Given the description of an element on the screen output the (x, y) to click on. 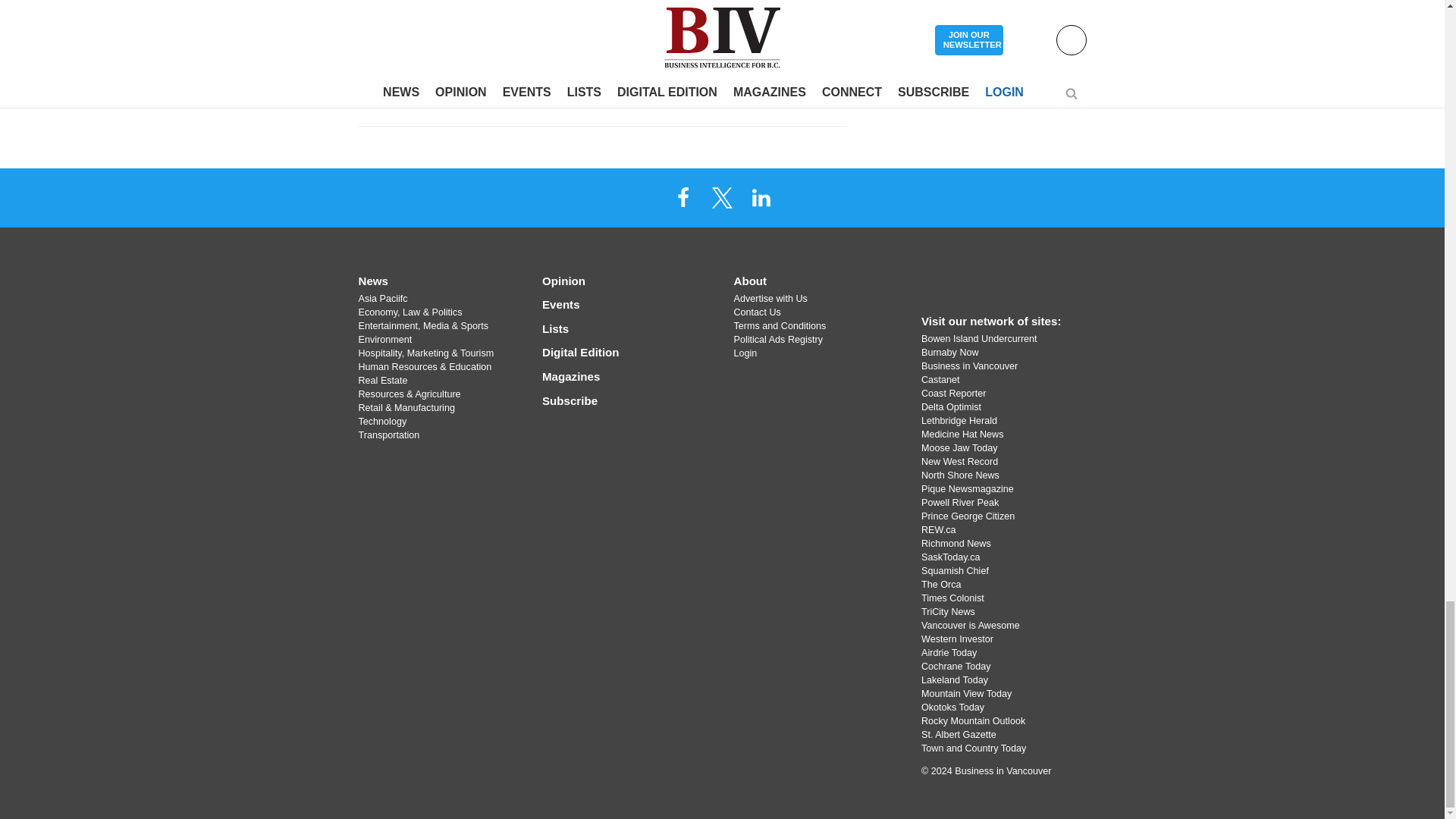
X (721, 196)
Facebook (683, 196)
LinkedIn (760, 196)
